Given the description of an element on the screen output the (x, y) to click on. 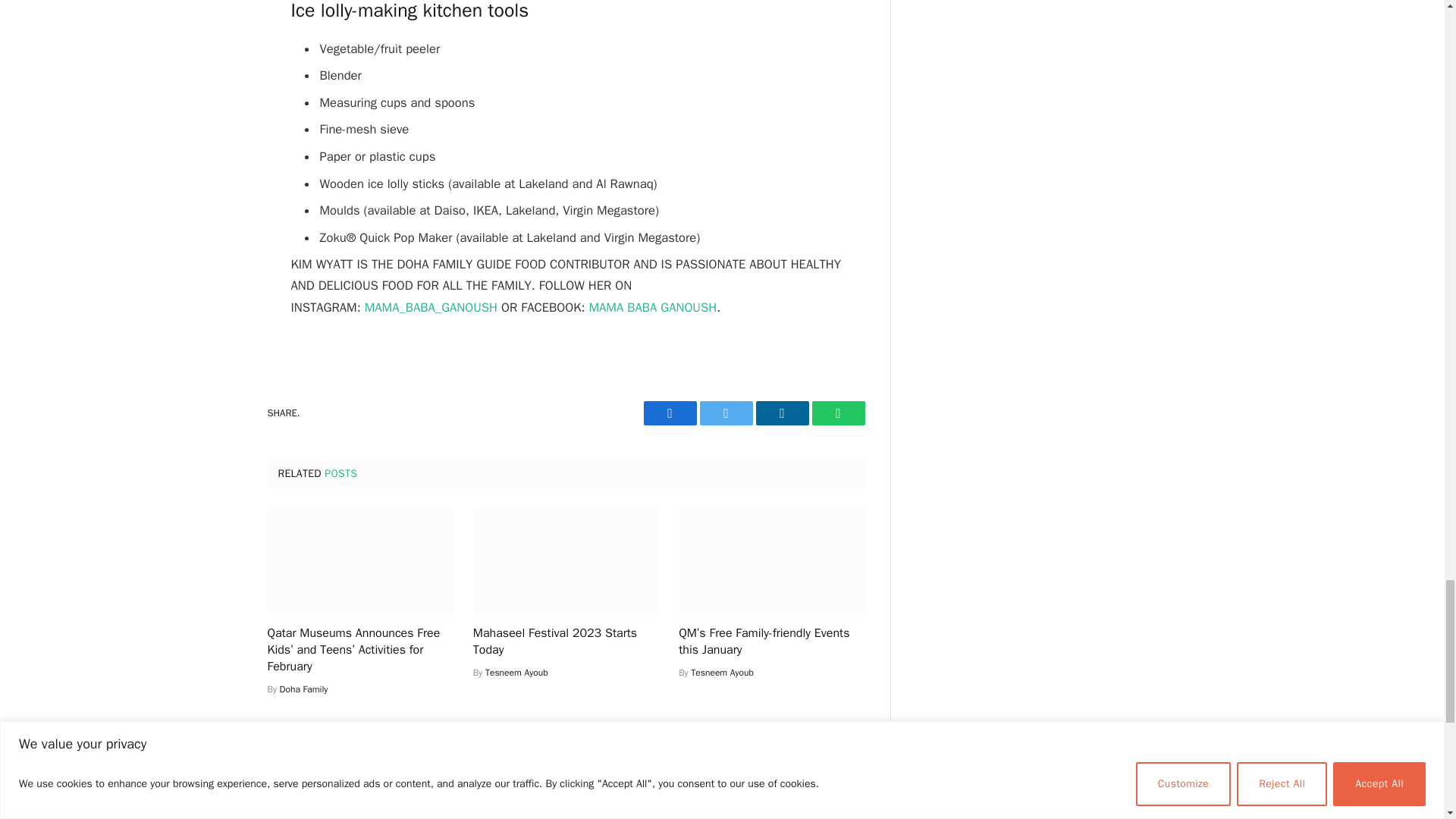
Share on LinkedIn (781, 413)
Share on Facebook (669, 413)
Share on WhatsApp (837, 413)
